Given the description of an element on the screen output the (x, y) to click on. 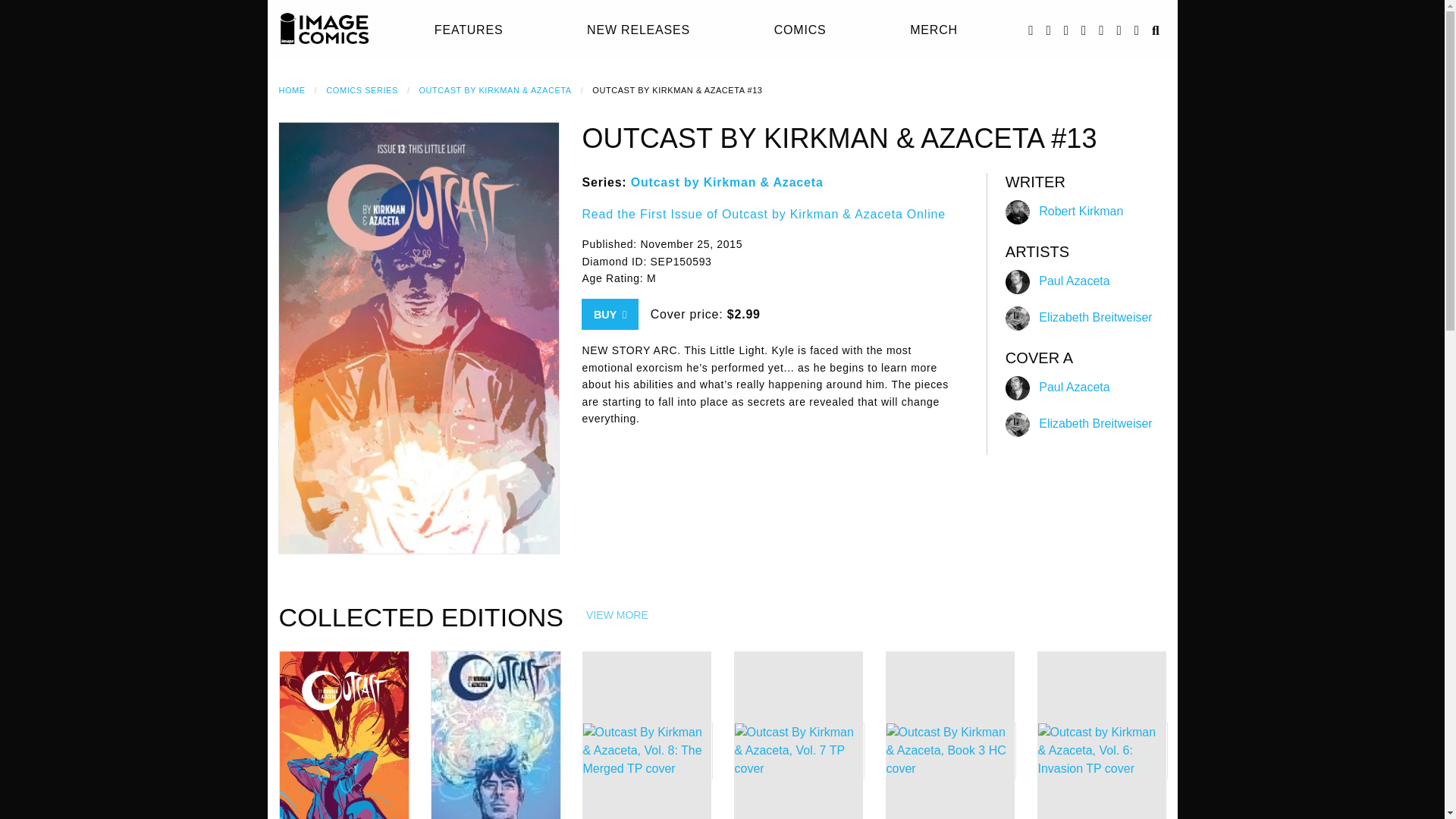
COMICS (800, 30)
Robert Kirkman (1080, 210)
Paul Azaceta (1074, 386)
Elizabeth Breitweiser (1095, 422)
Elizabeth Breitweiser (1095, 317)
MERCH (934, 30)
FEATURES (468, 30)
Paul Azaceta (1074, 280)
NEW RELEASES (638, 30)
HOME (292, 90)
